Given the description of an element on the screen output the (x, y) to click on. 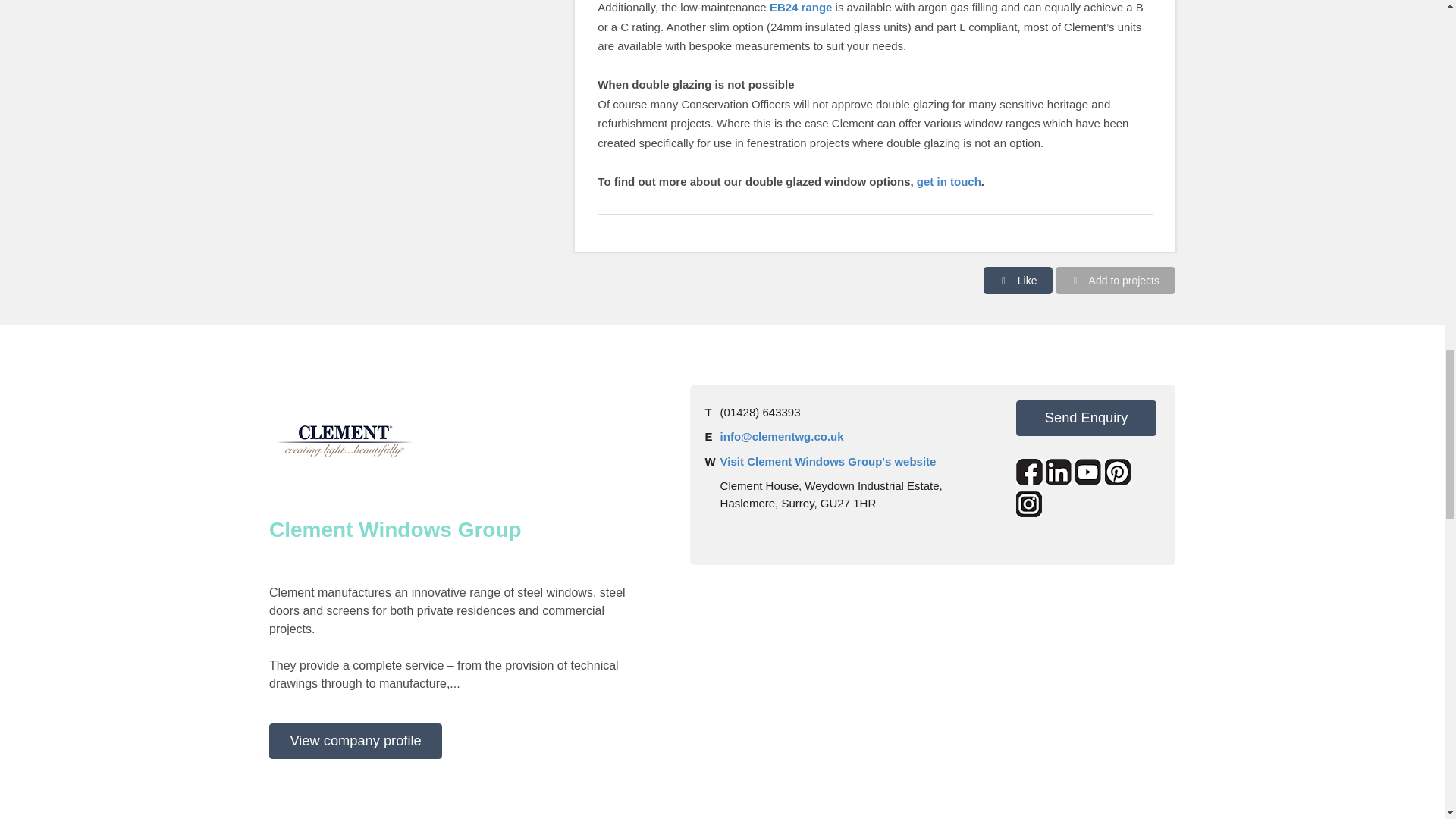
Follow Clement Windows Group on YouTube (1088, 471)
Clement Windows Group (344, 441)
Follow Clement Windows Group on Pinterest (1118, 471)
Follow Clement Windows Group on Facebook (1029, 471)
Follow Clement Windows Group on Instagram (1029, 503)
Follow Clement Windows Group on LinkedIn (1058, 471)
